Given the description of an element on the screen output the (x, y) to click on. 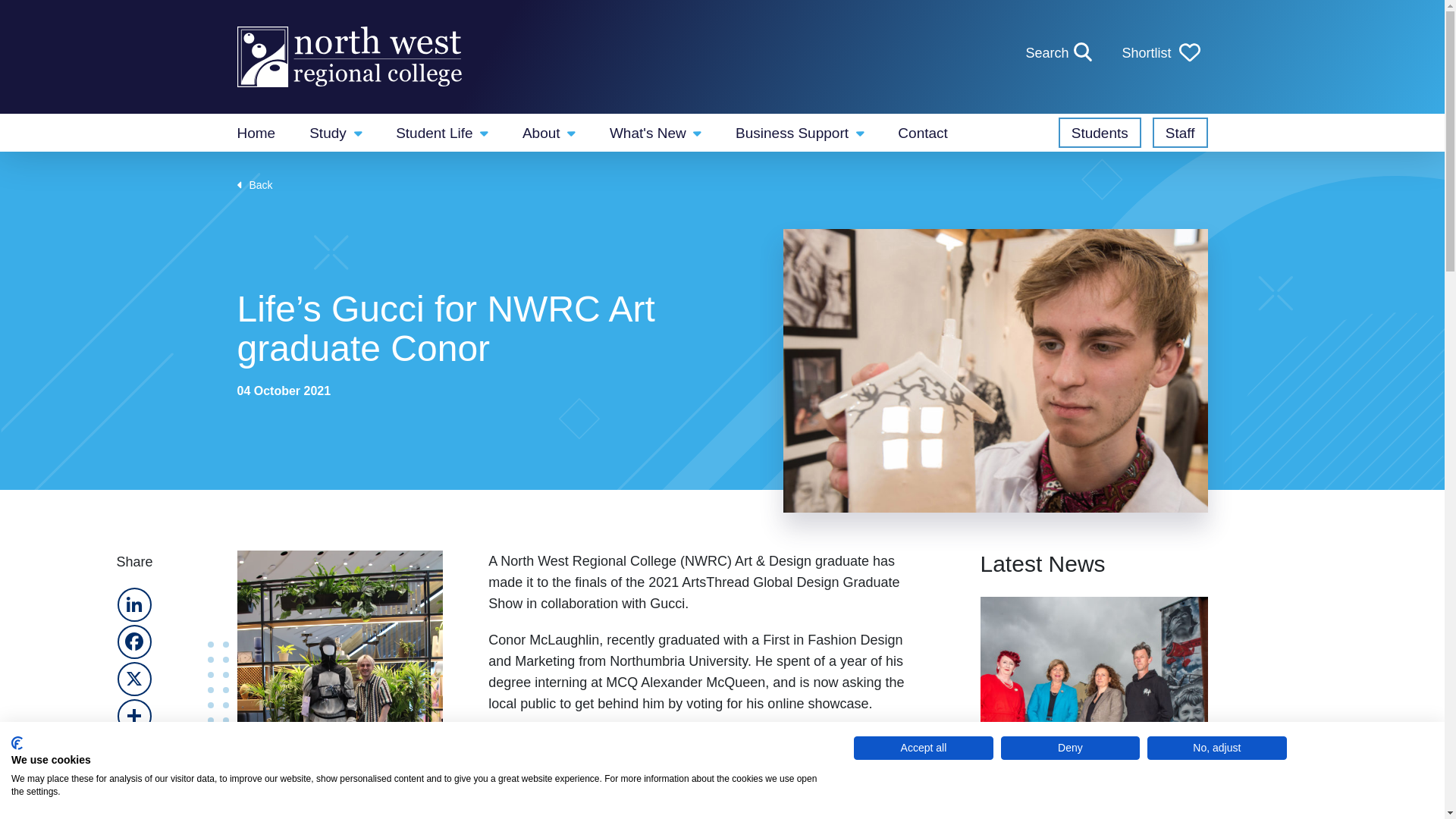
Student Life (441, 132)
Home (255, 132)
Study (334, 132)
Shortlist (1160, 53)
